Given the description of an element on the screen output the (x, y) to click on. 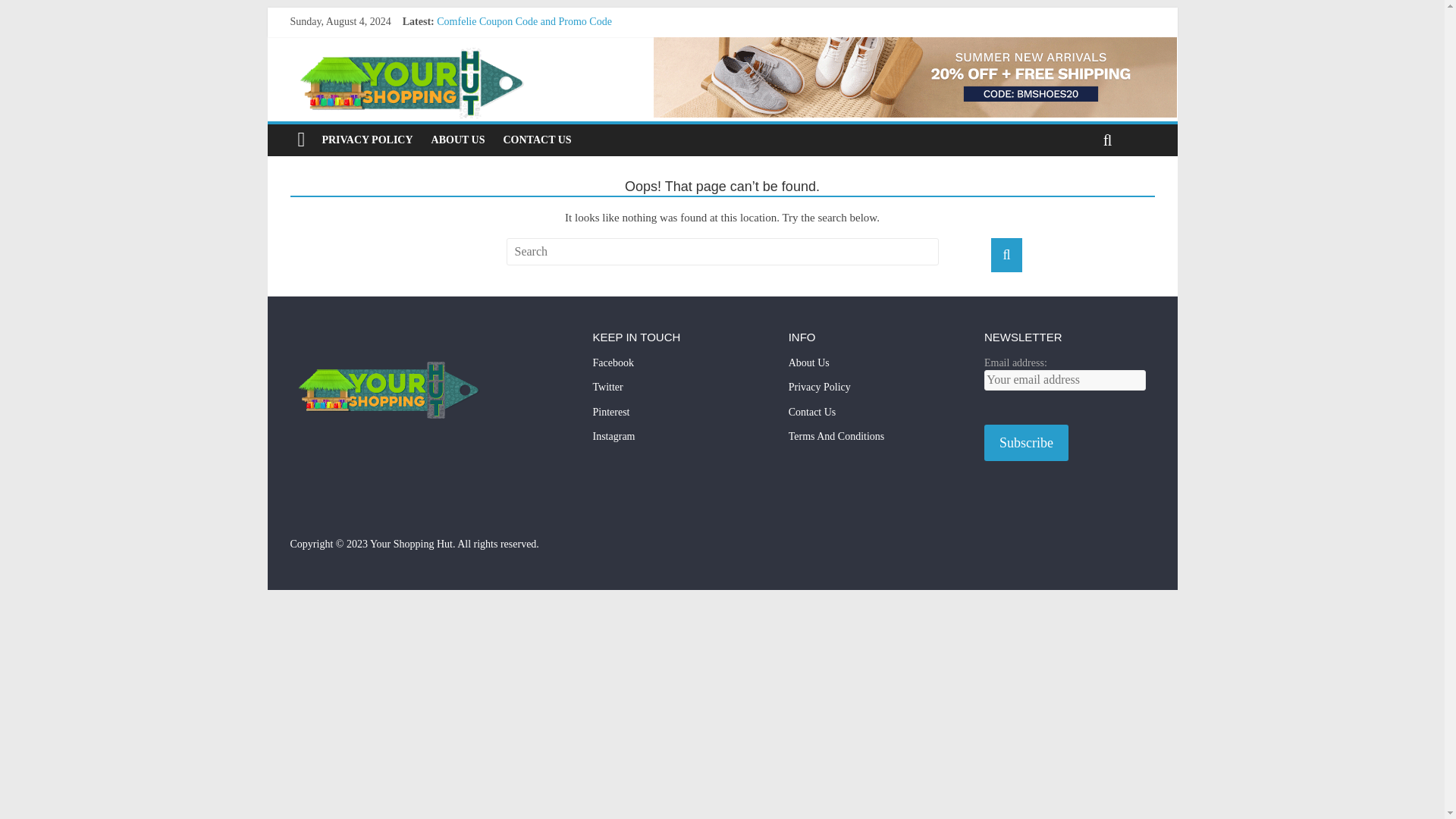
Charlie Bravo Delta Coupon Code and Promo Code (547, 71)
Little Toy Boutique Coupon Code and Promo Code (545, 55)
Twitter (677, 392)
BRL Sports Coupon Code and Promo Code (529, 89)
Charlie Bravo Delta Coupon Code and Promo Code (547, 71)
Subscribe (1026, 443)
Contact Us (874, 416)
CONTACT US (537, 140)
BRL Sports Coupon Code and Promo Code (529, 89)
ABOUT US (458, 140)
Kingston Brass Coupon Code and Promo Code (536, 38)
Privacy Policy (874, 392)
Instagram (677, 441)
Subscribe (1026, 443)
About Us (874, 367)
